Given the description of an element on the screen output the (x, y) to click on. 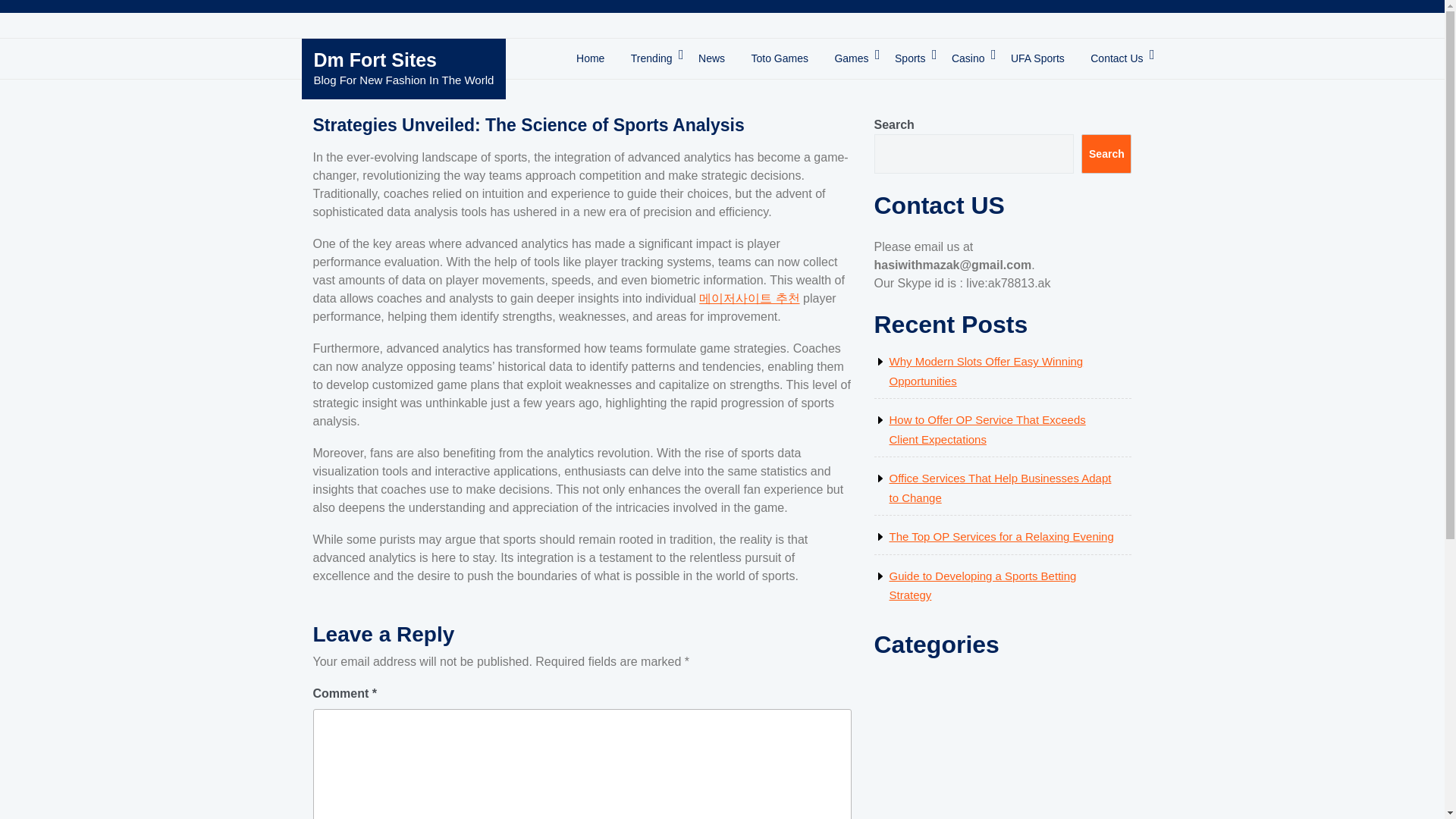
Search (1106, 153)
Trending (652, 58)
Office Services That Help Businesses Adapt to Change (999, 487)
Sports (909, 58)
Casino (967, 58)
Contact Us (1116, 58)
Guide to Developing a Sports Betting Strategy (981, 585)
Dm Fort Sites (376, 59)
Toto Games (779, 58)
Why Modern Slots Offer Easy Winning Opportunities (985, 370)
